Given the description of an element on the screen output the (x, y) to click on. 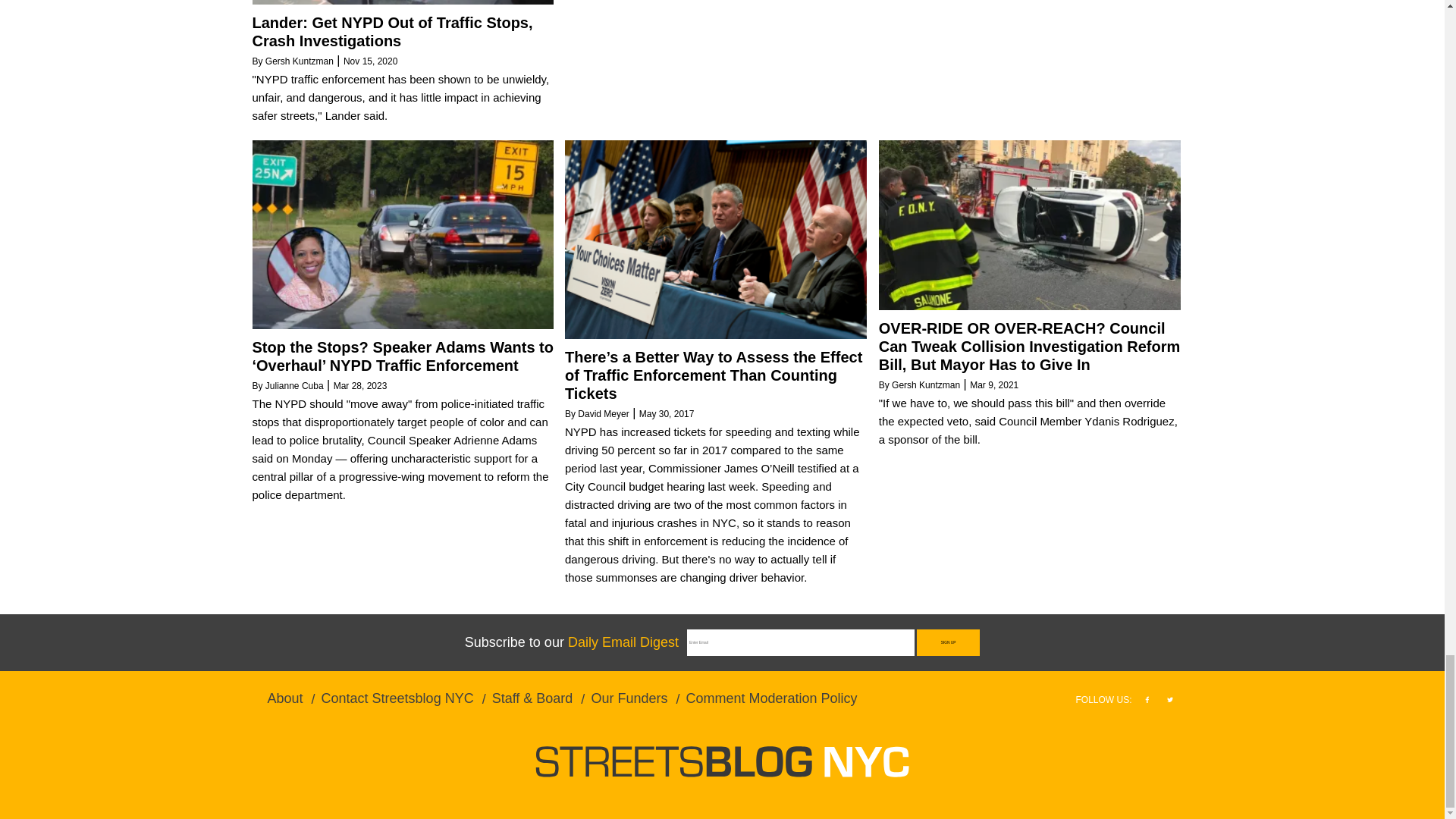
Streetsblog NYC Logo (721, 761)
